Given the description of an element on the screen output the (x, y) to click on. 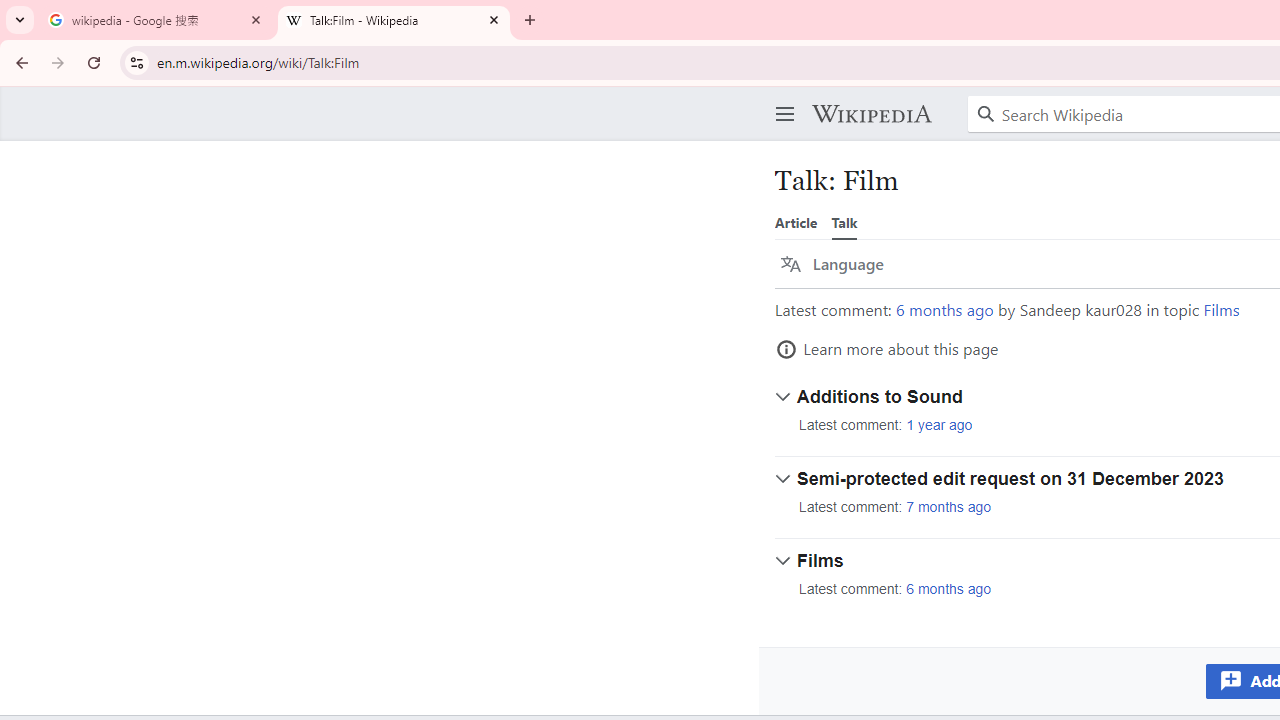
Wikipedia (871, 114)
6 months ago (949, 589)
Learn more about this page (887, 349)
7 months ago (949, 507)
